Given the description of an element on the screen output the (x, y) to click on. 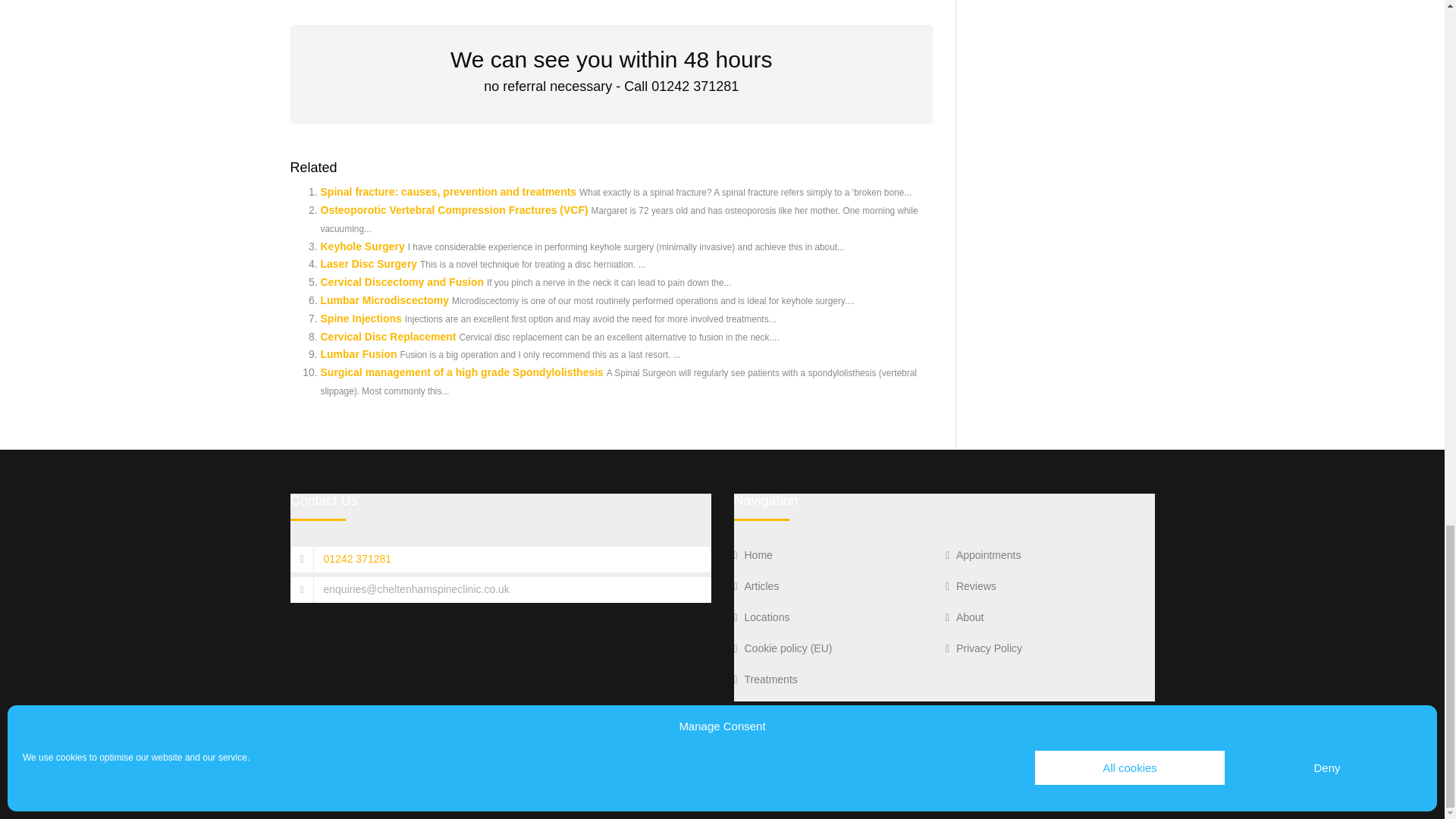
Lumbar Microdiscectomy (384, 300)
Lumbar Fusion (358, 354)
Spine Injections (360, 318)
Cervical Disc Replacement (387, 336)
Spine Injections (360, 318)
Laser Disc Surgery (368, 263)
Laser Disc Surgery (368, 263)
Keyhole Surgery (362, 246)
Lumbar Microdiscectomy (384, 300)
Surgical management of a high grade Spondylolisthesis (461, 372)
Cervical Discectomy and Fusion (401, 282)
Cervical Disc Replacement (387, 336)
Spinal fracture: causes, prevention and treatments (448, 191)
Surgical management of a high grade Spondylolisthesis (461, 372)
Spinal fracture: causes, prevention and treatments (448, 191)
